Given the description of an element on the screen output the (x, y) to click on. 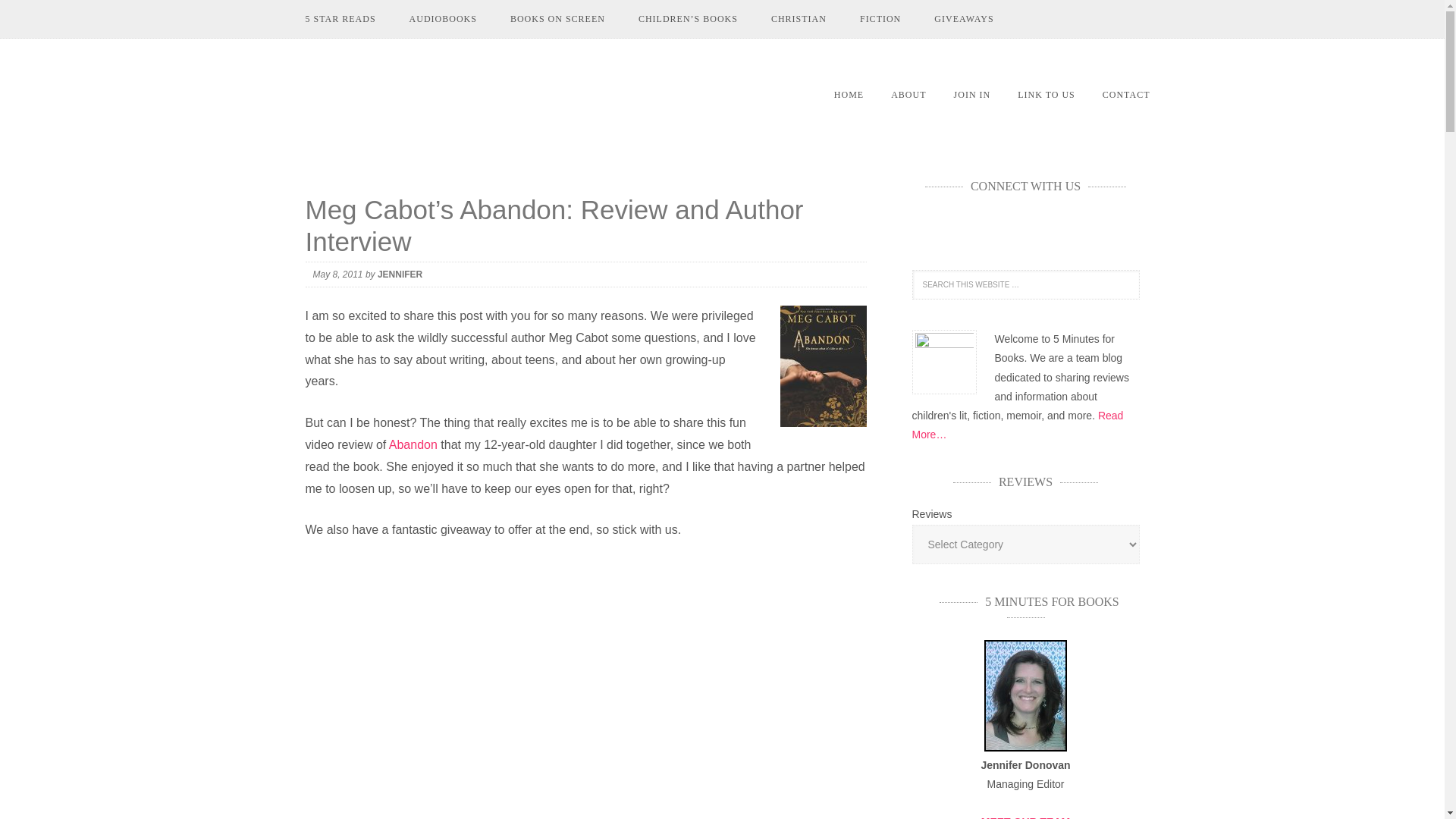
JOIN IN (972, 94)
JENNIFER (399, 274)
5 Minutes For Books (490, 89)
ABOUT (908, 94)
CHRISTIAN (798, 18)
CONTACT (1125, 94)
GIVEAWAYS (963, 18)
LINK TO US (1046, 94)
Abandon (413, 444)
HOME (849, 94)
FICTION (879, 18)
AUDIOBOOKS (443, 18)
5 STAR READS (339, 18)
BOOKS ON SCREEN (557, 18)
